Given the description of an element on the screen output the (x, y) to click on. 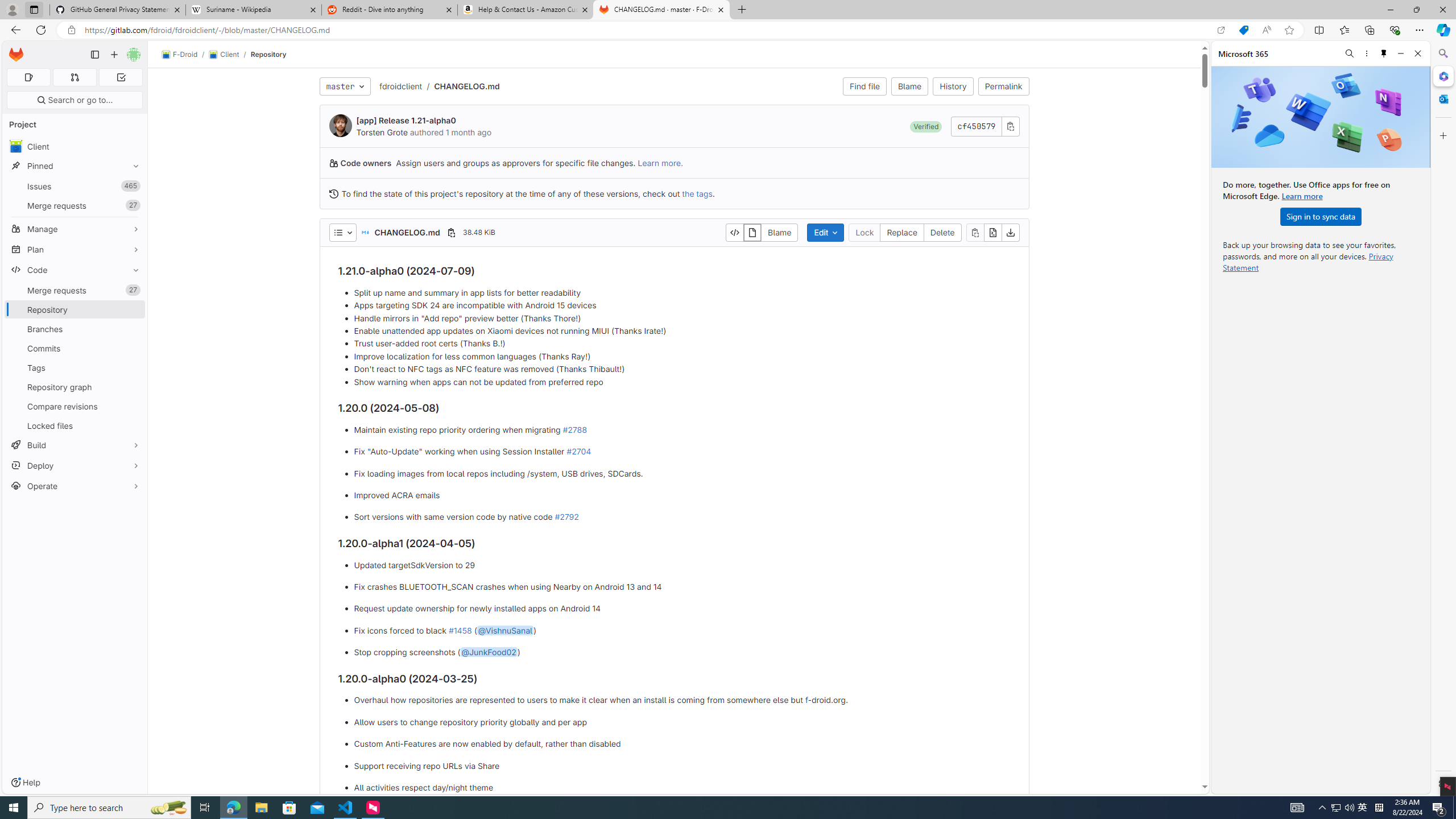
Fix "Auto-Update" working when using Session Installer #2704 (681, 451)
Pin Tags (132, 367)
Copy file contents (974, 232)
Trust user-added root certs (Thanks B.!) (681, 343)
Verified (926, 126)
Compare revisions (74, 406)
Permalink (1002, 85)
Deploy (74, 465)
Client (223, 54)
Find file (864, 85)
F-Droid (179, 54)
Improve localization for less common languages (Thanks Ray!) (681, 356)
